Given the description of an element on the screen output the (x, y) to click on. 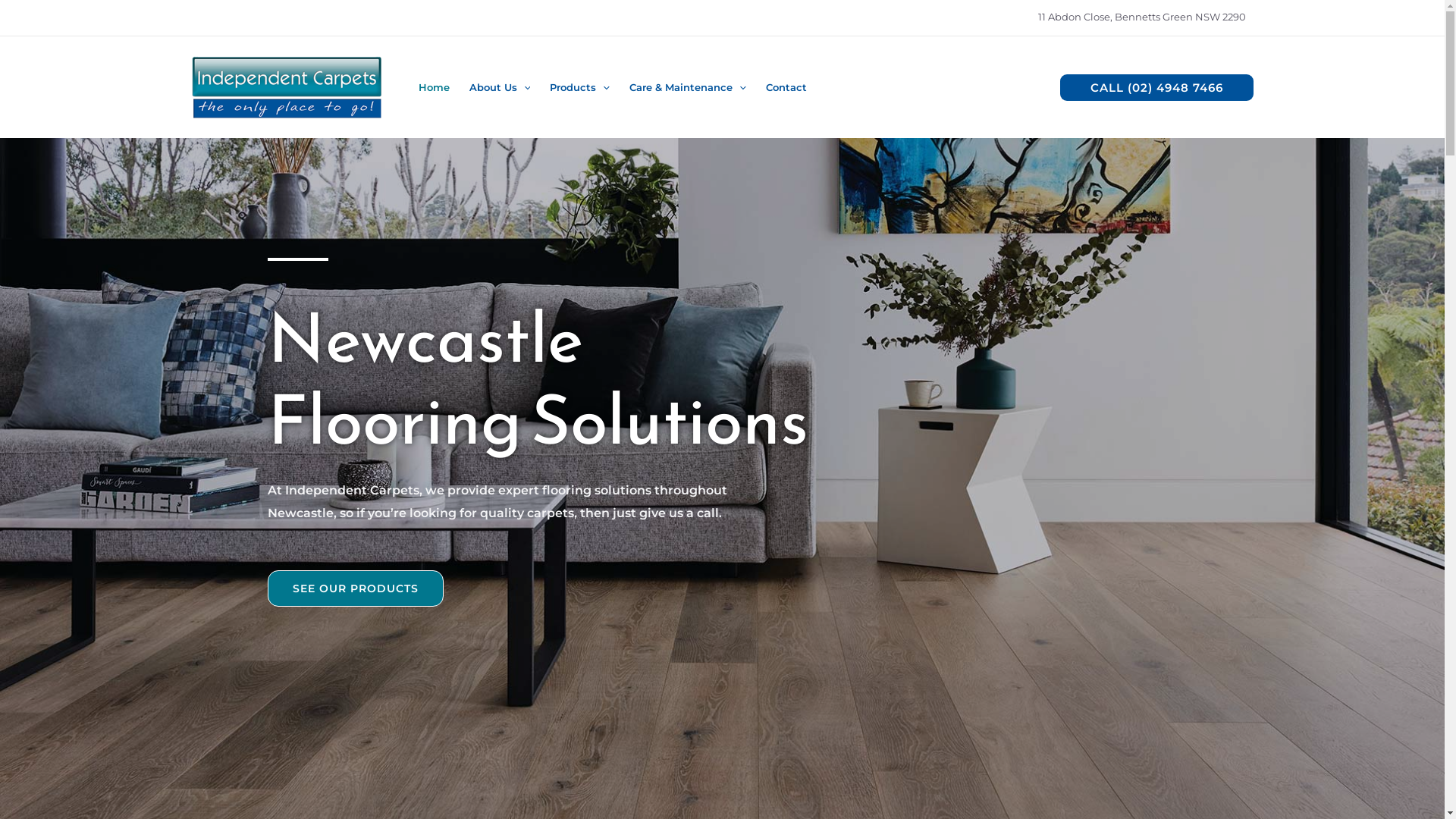
Contact Element type: text (786, 87)
About Us Element type: text (499, 87)
Home Element type: text (432, 87)
Products Element type: text (579, 87)
CALL (02) 4948 7466 Element type: text (1156, 87)
Care & Maintenance Element type: text (687, 87)
SEE OUR PRODUCTS Element type: text (354, 588)
